Given the description of an element on the screen output the (x, y) to click on. 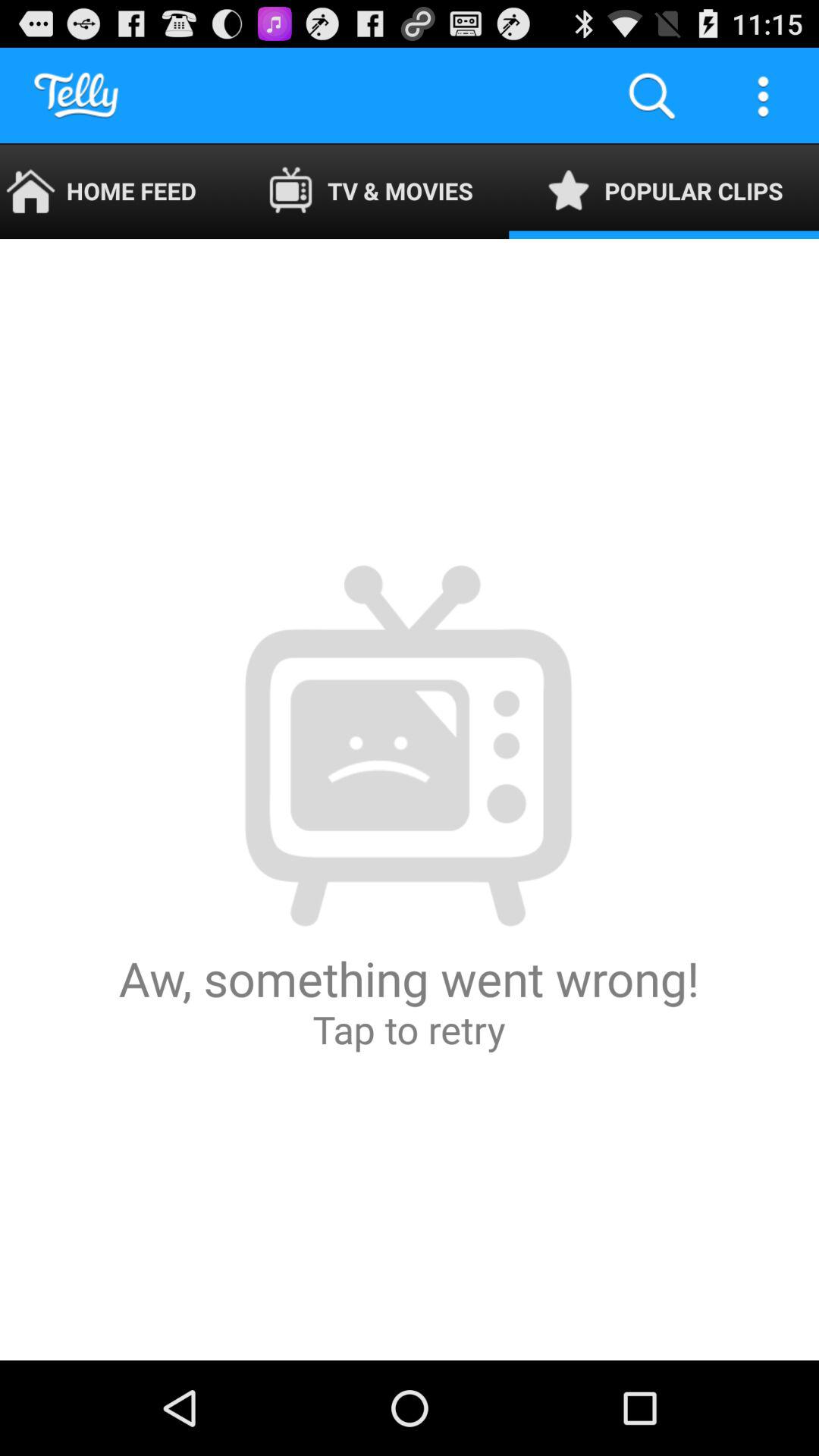
press the icon above the aw something went app (116, 190)
